Given the description of an element on the screen output the (x, y) to click on. 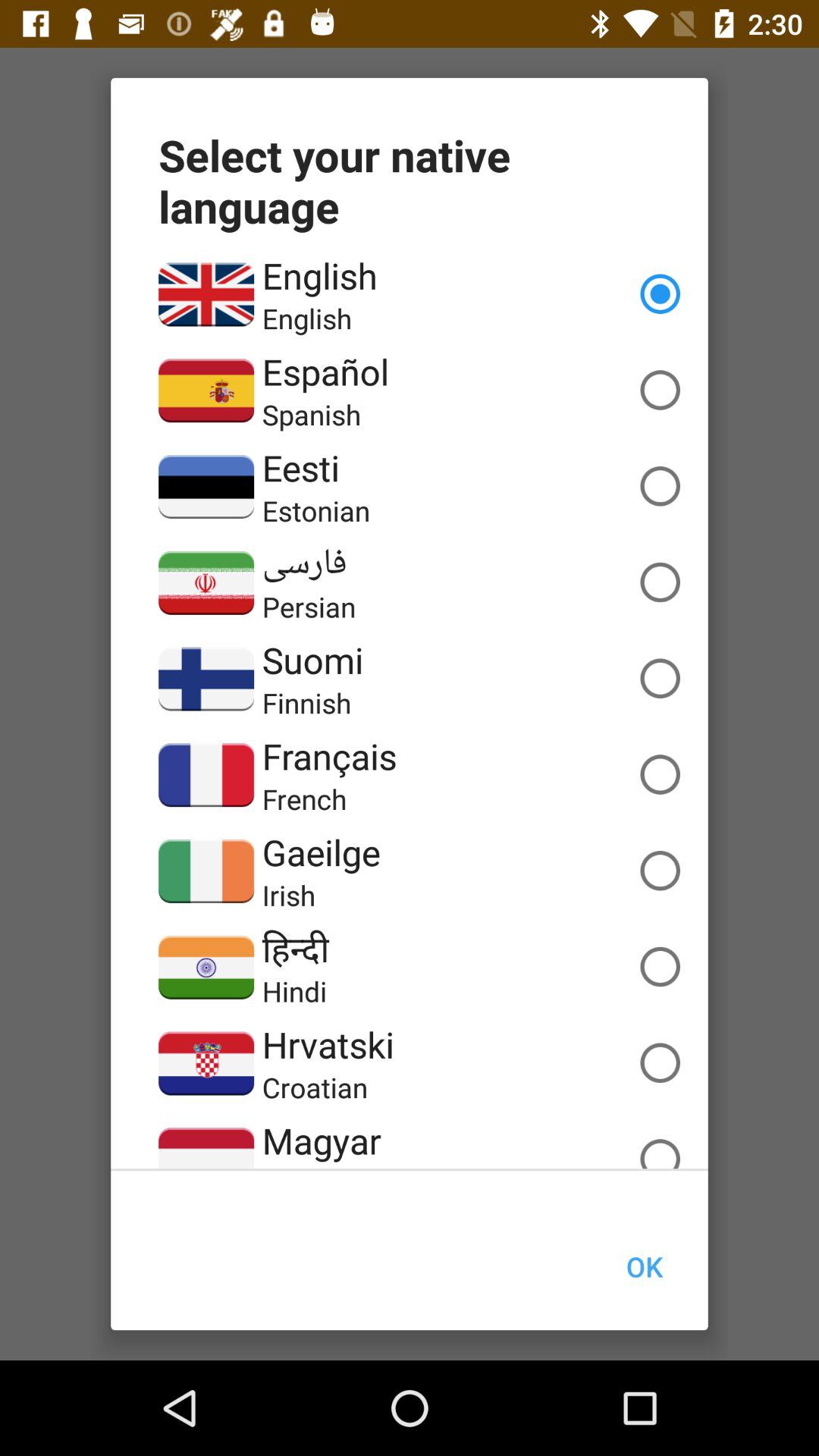
press irish (288, 894)
